Given the description of an element on the screen output the (x, y) to click on. 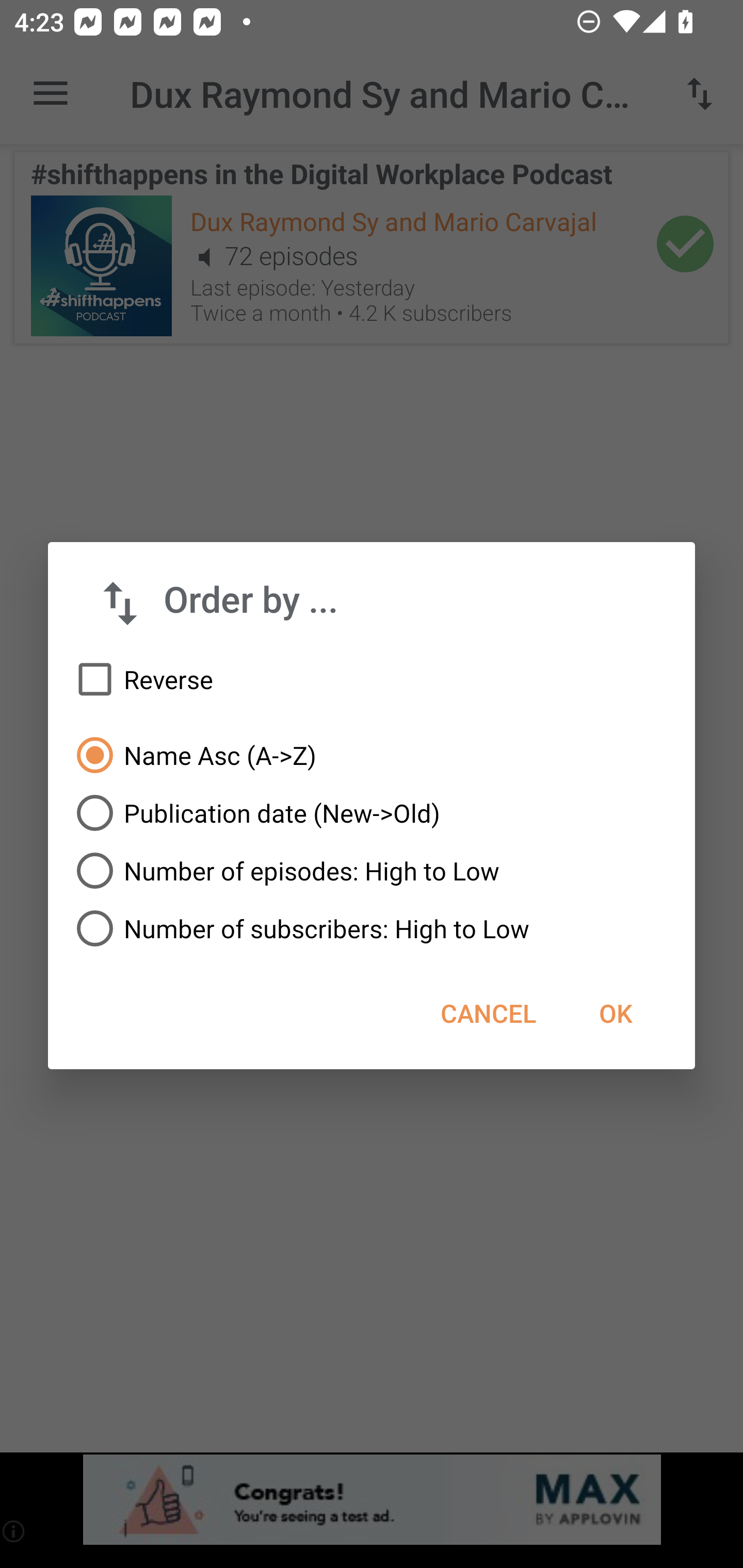
Reverse (371, 679)
Name Asc (A->Z) (371, 754)
Publication date (New->Old) (371, 813)
Number of episodes: High to Low (371, 871)
Number of subscribers: High to Low (371, 929)
CANCEL (488, 1012)
OK (615, 1012)
